Given the description of an element on the screen output the (x, y) to click on. 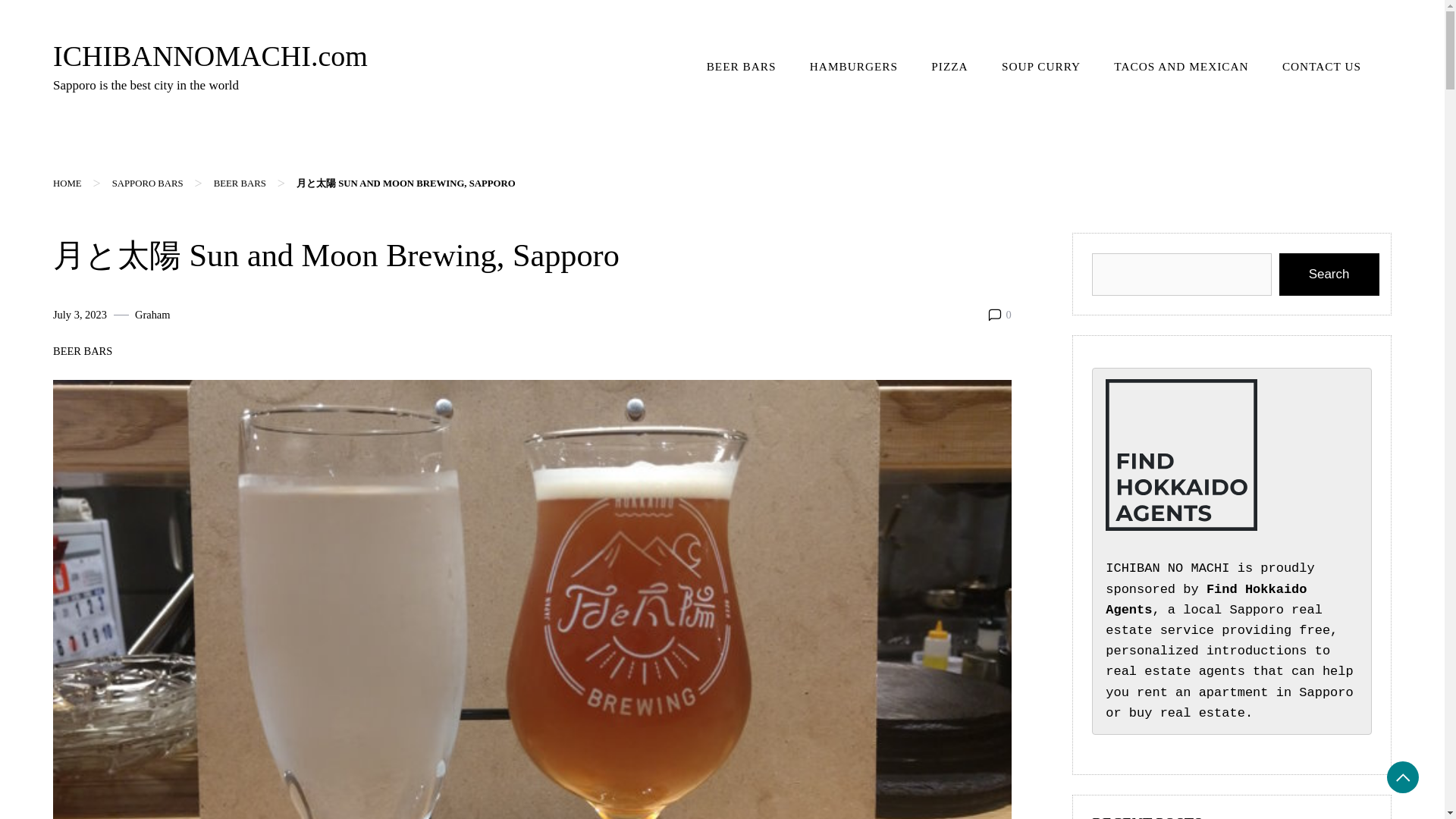
SAPPORO BARS (147, 183)
Home (66, 183)
HAMBURGERS (853, 66)
PIZZA (948, 66)
TACOS AND MEXICAN (1181, 66)
SOUP CURRY (1041, 66)
ICHIBANNOMACHI.com (210, 56)
Graham (152, 314)
HOME (66, 183)
BEER BARS (240, 183)
BEER BARS (82, 351)
CONTACT US (1320, 66)
July 3, 2023 (79, 314)
BEER BARS (741, 66)
